Given the description of an element on the screen output the (x, y) to click on. 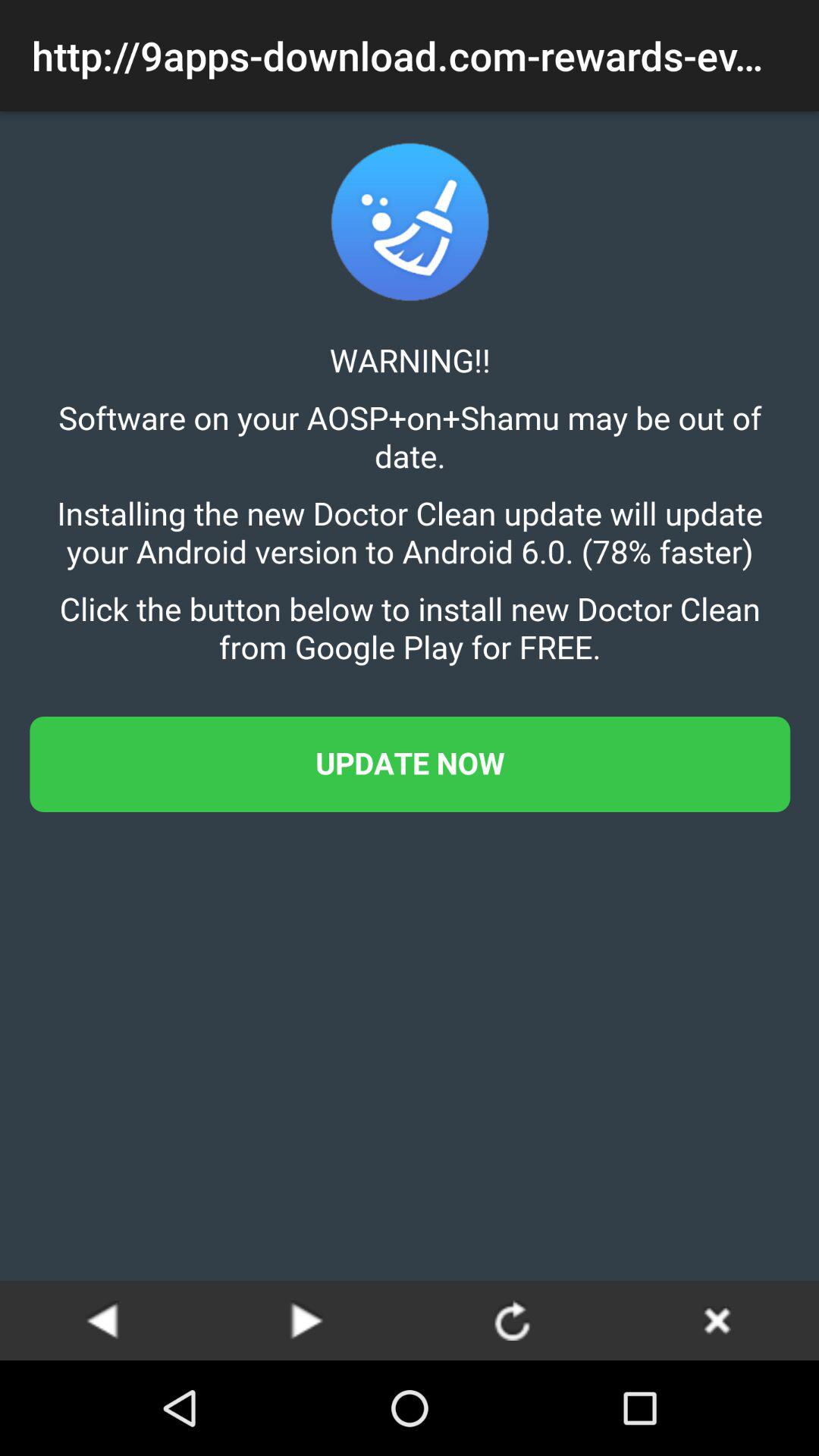
go to previous (102, 1320)
